Given the description of an element on the screen output the (x, y) to click on. 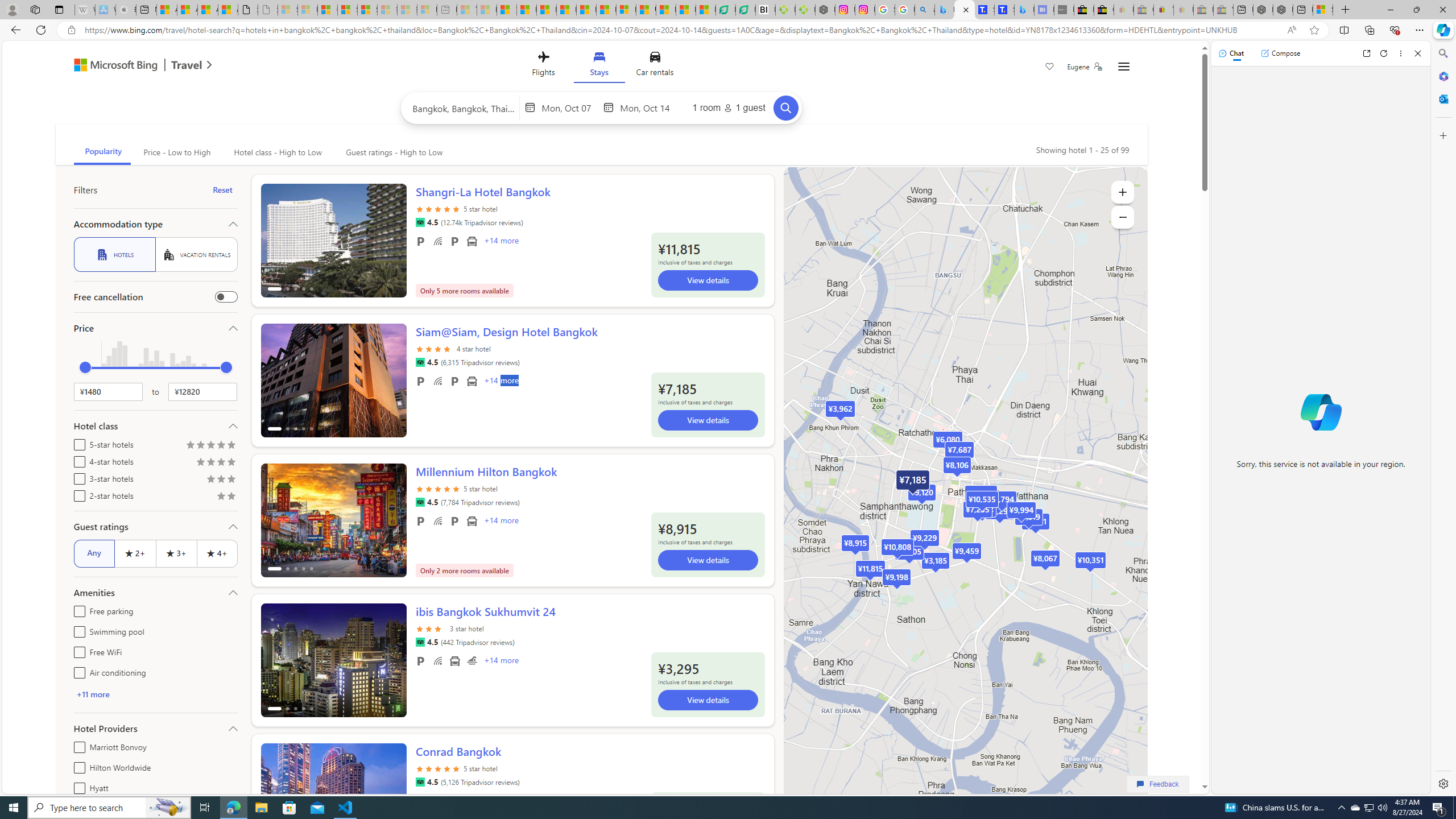
Free cancellation (225, 296)
Shangri-La Bangkok, Hotel reviews and Room rates (1004, 9)
Amenities (154, 592)
Safety in Our Products - Google Safety Center (884, 9)
Tripadvisor (419, 781)
+11 more (154, 694)
Price - Low to High (176, 152)
Any (93, 553)
3+ (175, 553)
